Given the description of an element on the screen output the (x, y) to click on. 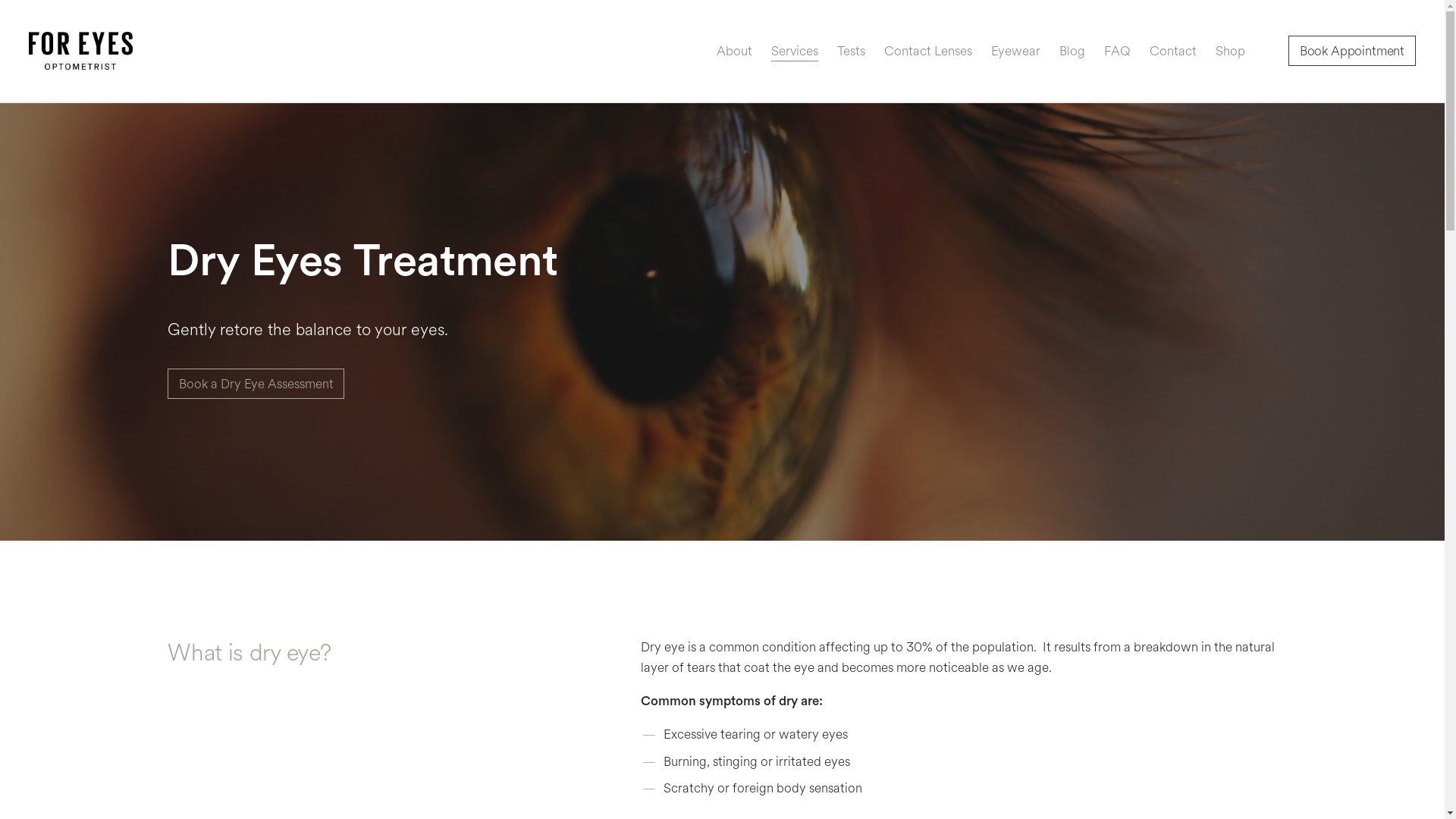
FAQ Element type: text (1117, 50)
Blog Element type: text (1072, 50)
Book a Dry Eye Assessment Element type: text (255, 383)
About Element type: text (734, 50)
Book Appointment Element type: text (1351, 50)
Tests Element type: text (851, 50)
Eyewear Element type: text (1015, 50)
Shop Element type: text (1230, 50)
Services Element type: text (794, 50)
Contact Element type: text (1172, 50)
Contact Lenses Element type: text (928, 50)
